Given the description of an element on the screen output the (x, y) to click on. 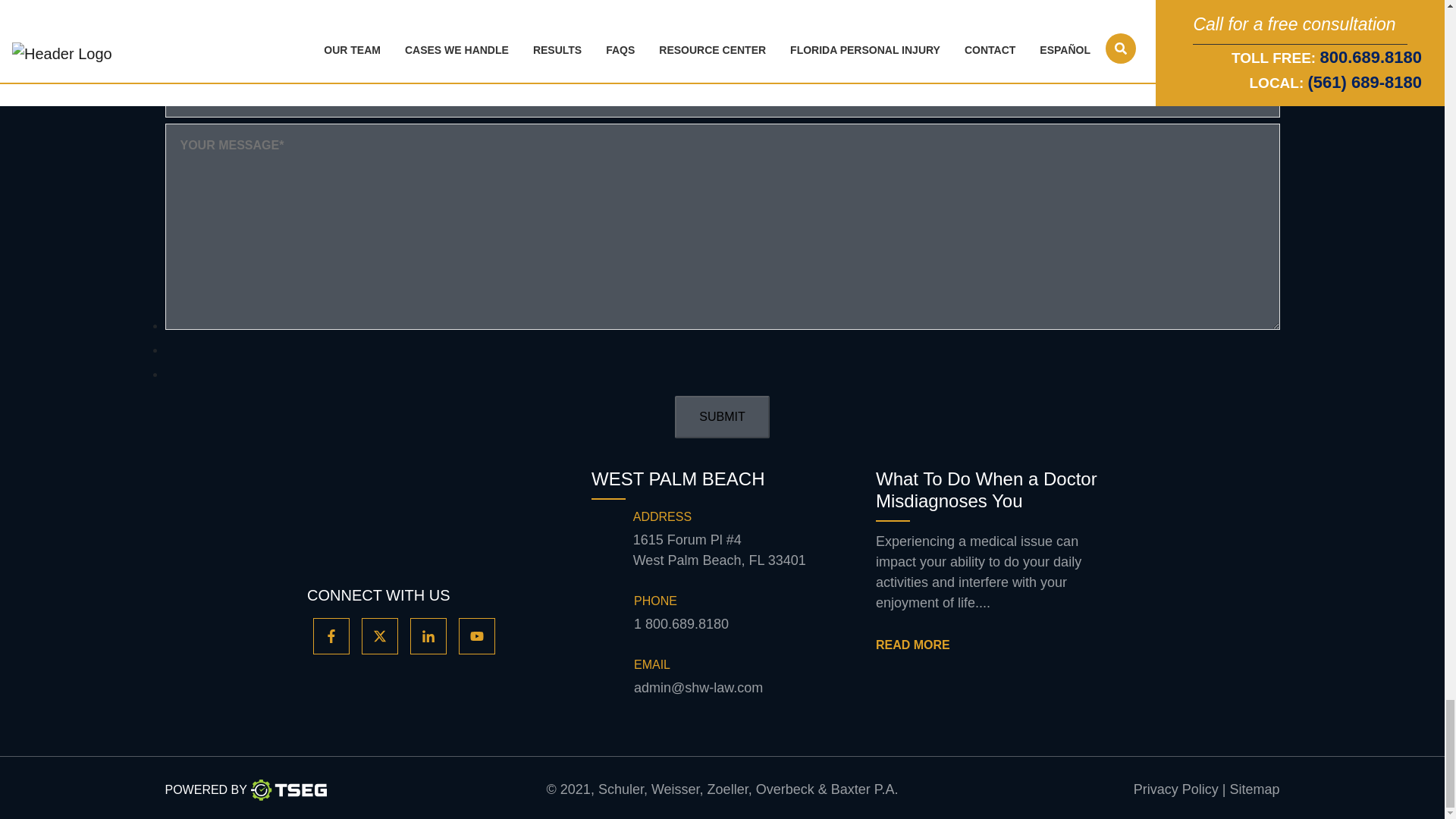
Submit (721, 416)
youtube (476, 636)
Facebook (331, 636)
Phone No. (681, 624)
Linkedin (428, 636)
Twitter (379, 636)
